Given the description of an element on the screen output the (x, y) to click on. 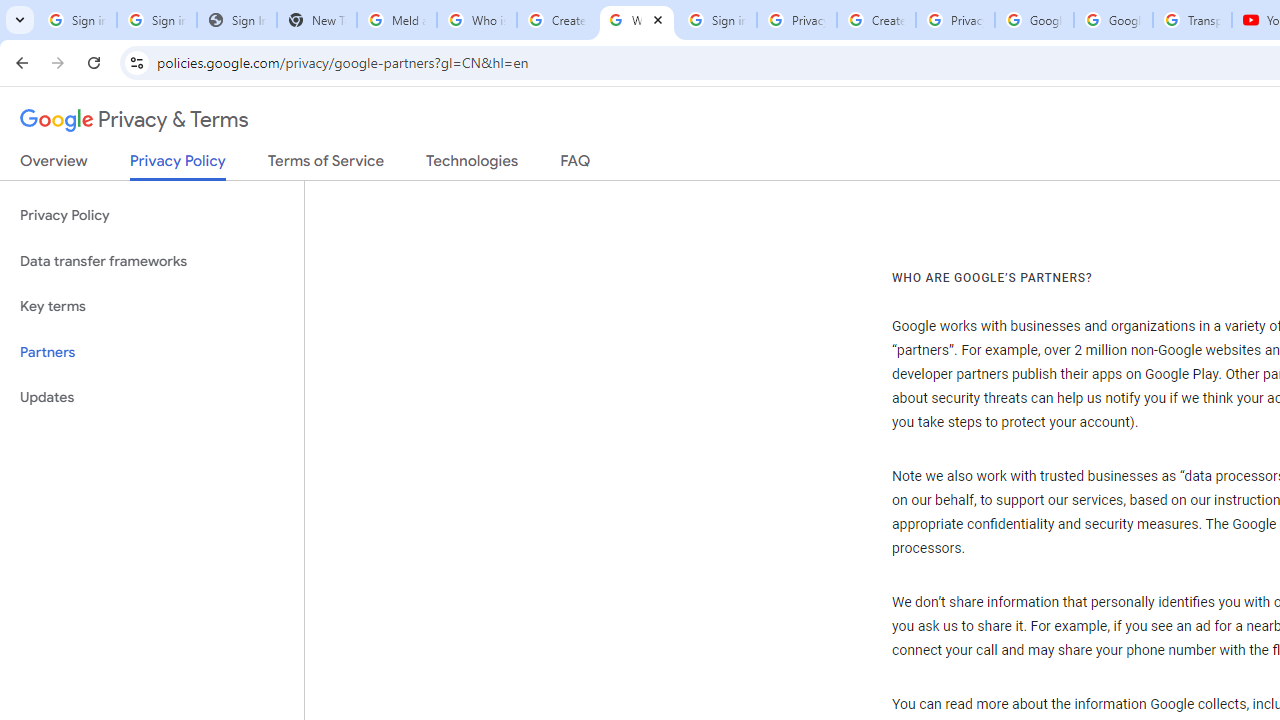
Create your Google Account (556, 20)
New Tab (316, 20)
Key terms (152, 306)
Data transfer frameworks (152, 261)
Create your Google Account (876, 20)
